Given the description of an element on the screen output the (x, y) to click on. 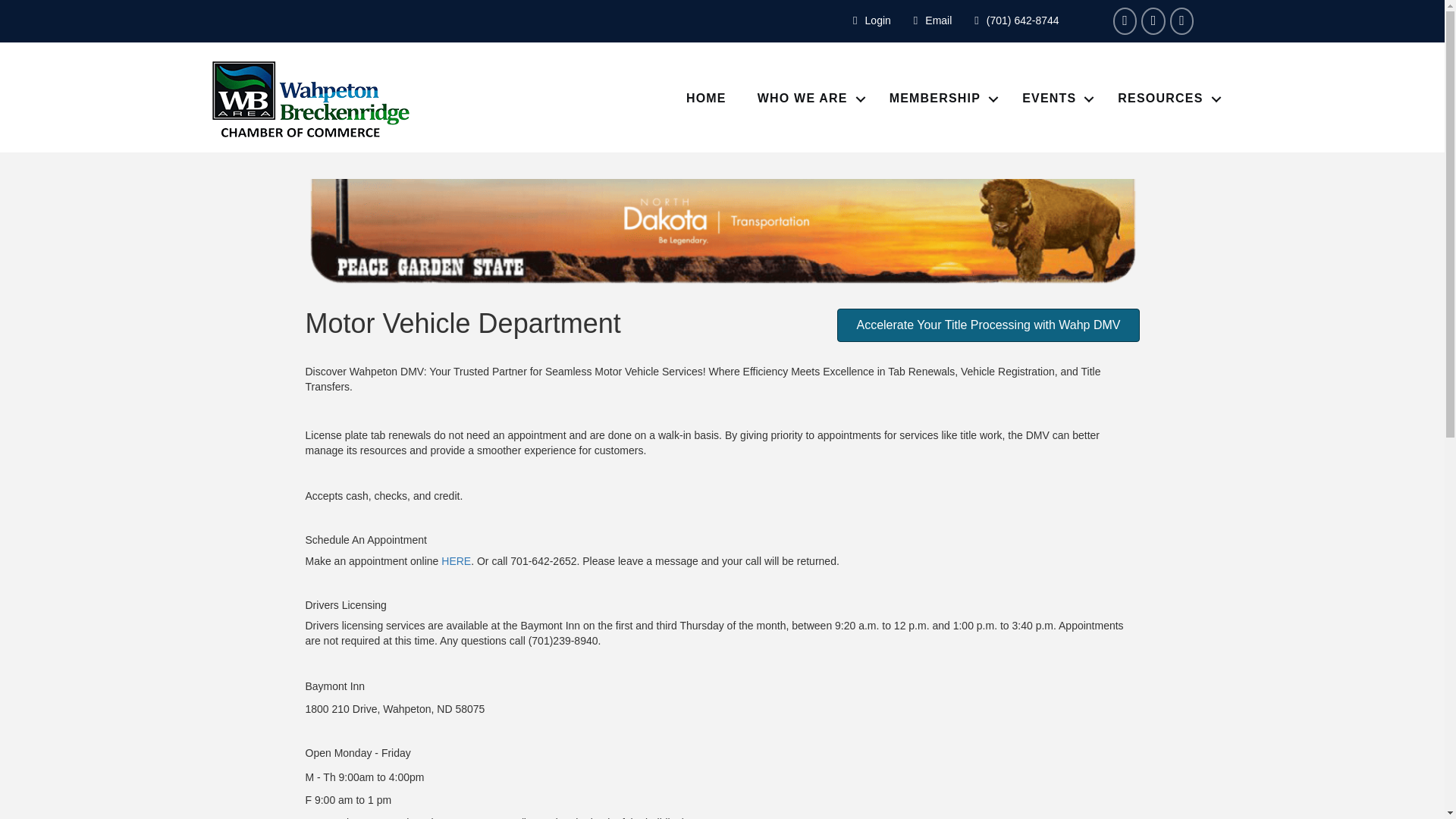
Whapeton-Breckenridge-Chamber-Logo-transparent-md (310, 98)
HOME (706, 98)
DMV Web Banner2 (721, 232)
RESOURCES (1165, 98)
EVENTS (1054, 98)
Email (928, 20)
HERE (455, 561)
Login (868, 20)
Accelerate Your Title Processing with Wahp DMV (987, 325)
MEMBERSHIP (940, 98)
WHO WE ARE (807, 98)
